Given the description of an element on the screen output the (x, y) to click on. 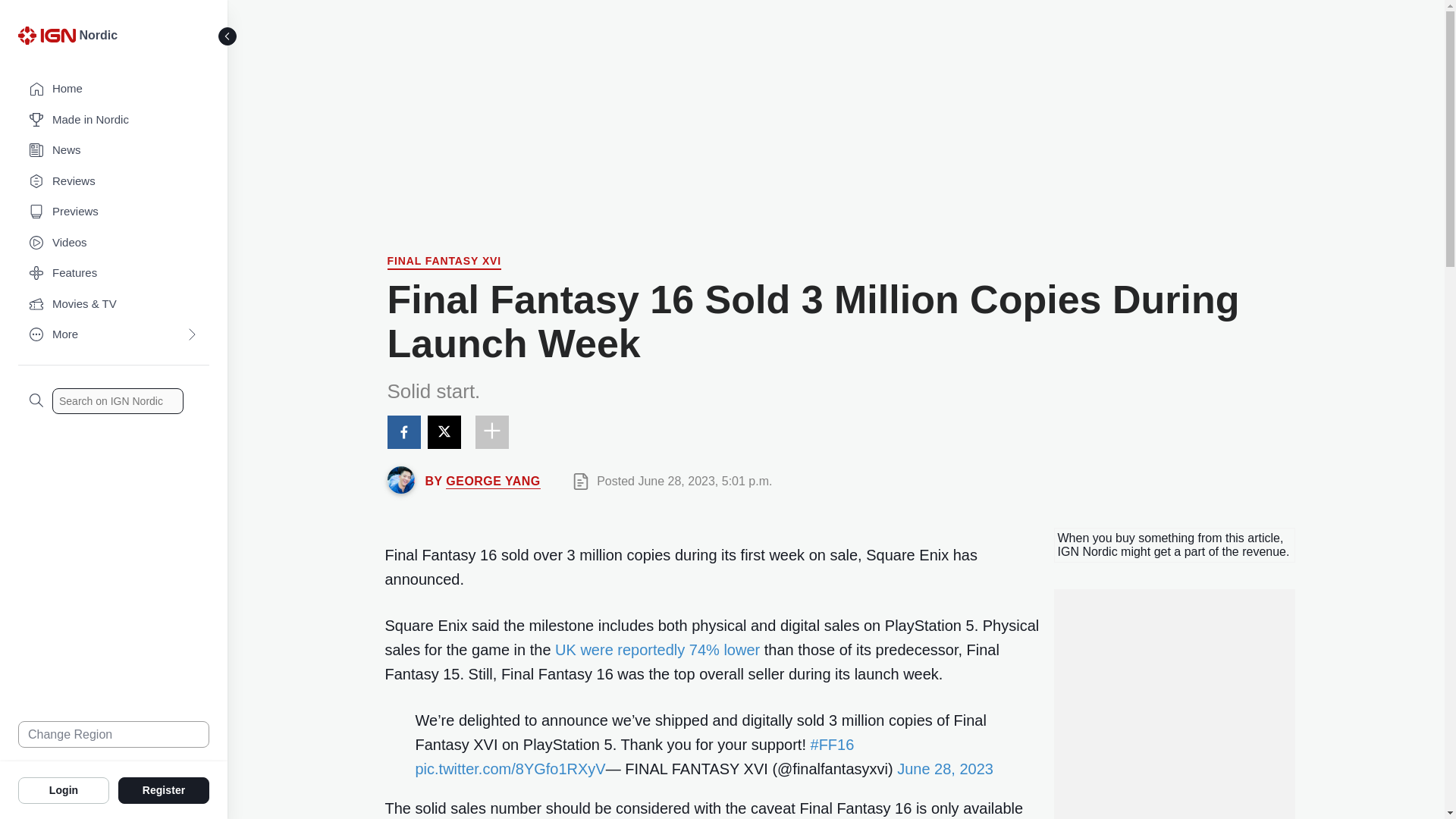
Register (163, 789)
Login (63, 789)
GEORGE YANG (492, 481)
FINAL FANTASY XVI (443, 262)
More (113, 334)
Toggle Sidebar (226, 36)
Reviews (113, 181)
Previews (113, 211)
IGN Logo (46, 34)
IGN Logo (48, 39)
3rd party ad content (1173, 770)
Final Fantasy XVI (443, 262)
Videos (113, 242)
Home (113, 89)
3rd party ad content (835, 110)
